Given the description of an element on the screen output the (x, y) to click on. 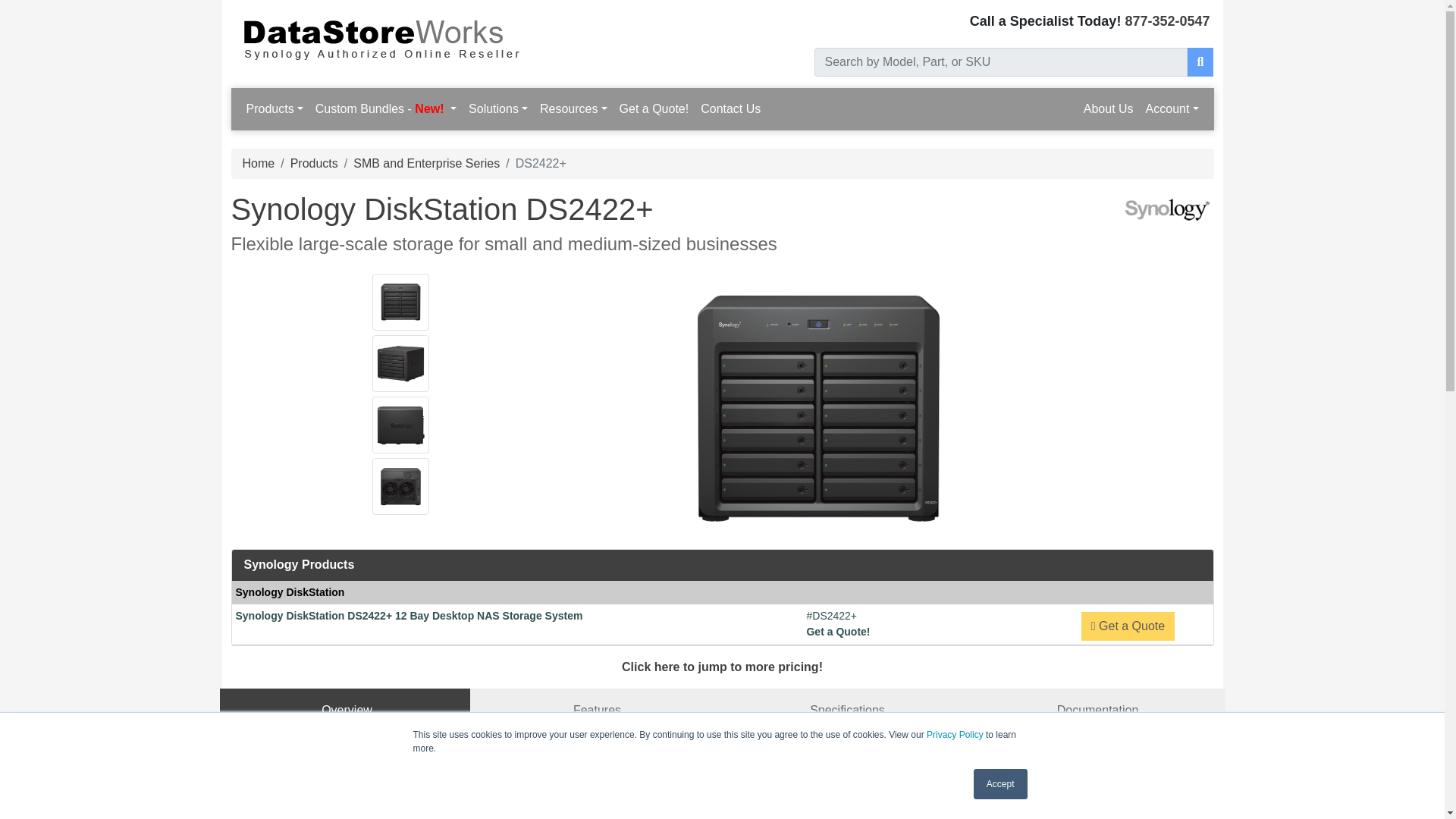
Privacy Policy (955, 734)
877-352-0547 (1166, 20)
Accept (1000, 784)
Products (274, 109)
